Given the description of an element on the screen output the (x, y) to click on. 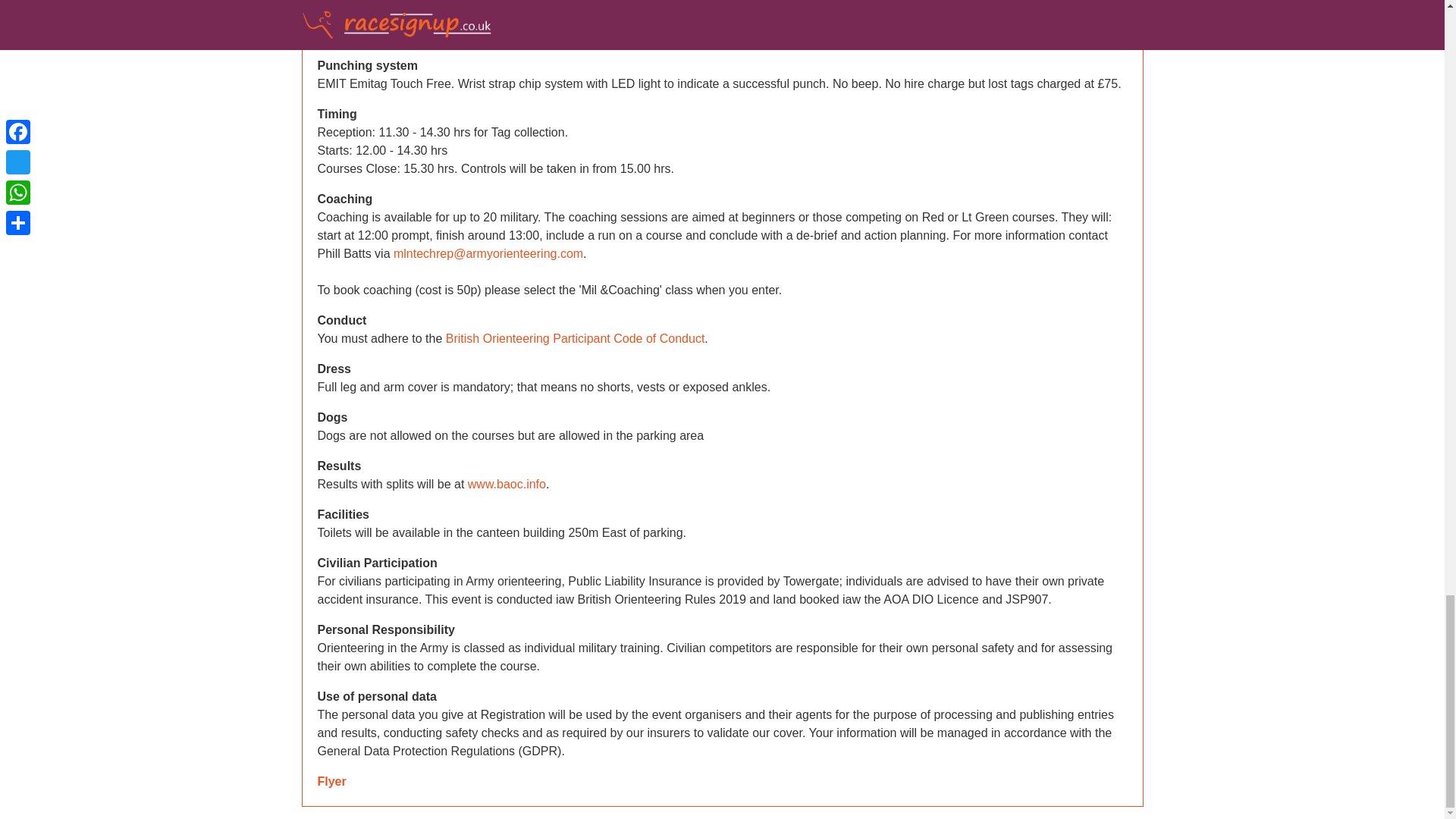
www.baoc.info (506, 483)
Flyer (331, 780)
British Orienteering Participant Code of Conduct (574, 338)
